Given the description of an element on the screen output the (x, y) to click on. 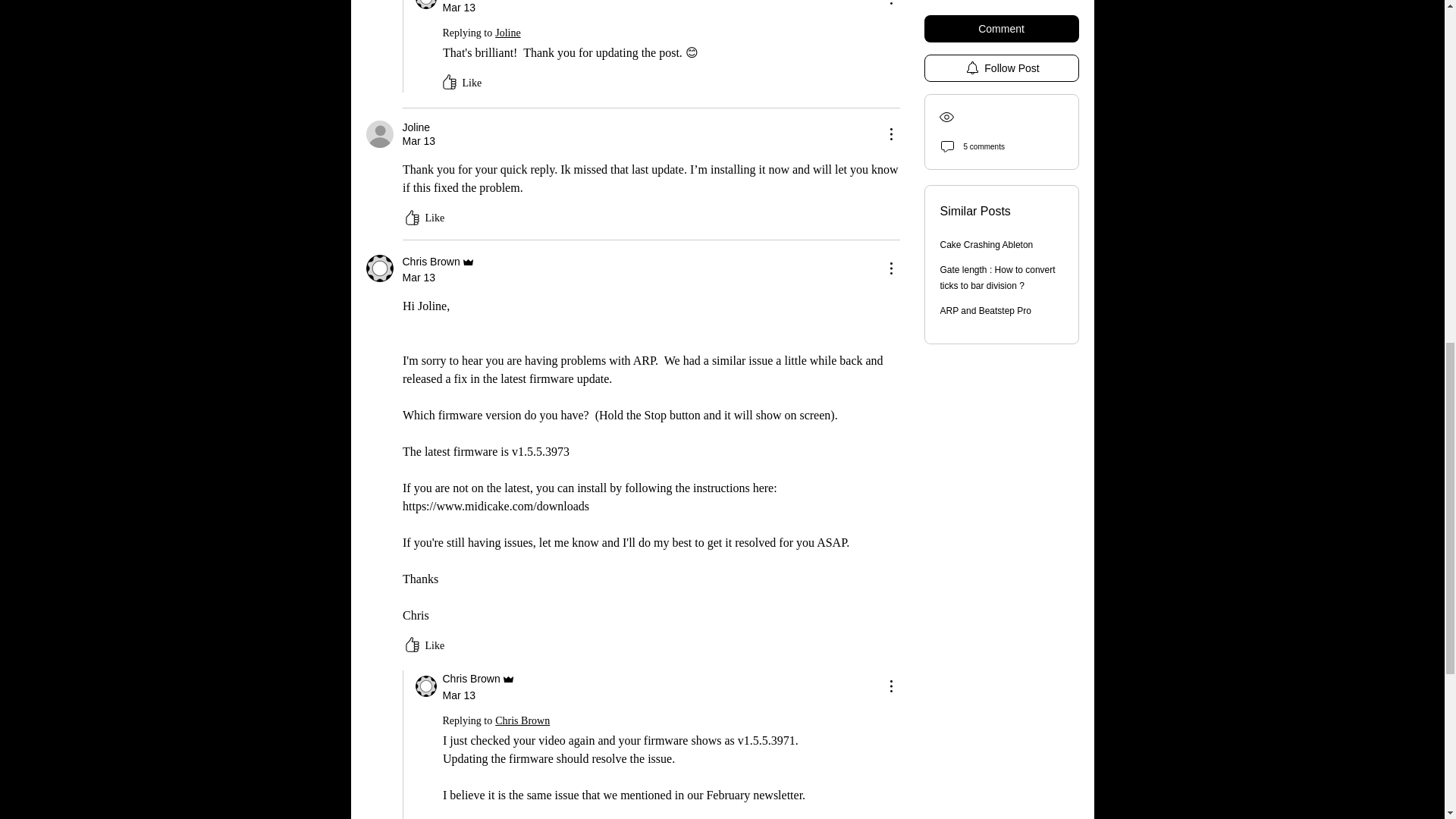
Chris Brown (425, 685)
Like (460, 83)
Joline (508, 33)
Chris Brown (379, 267)
Chris Brown (425, 4)
Joline (415, 127)
